Given the description of an element on the screen output the (x, y) to click on. 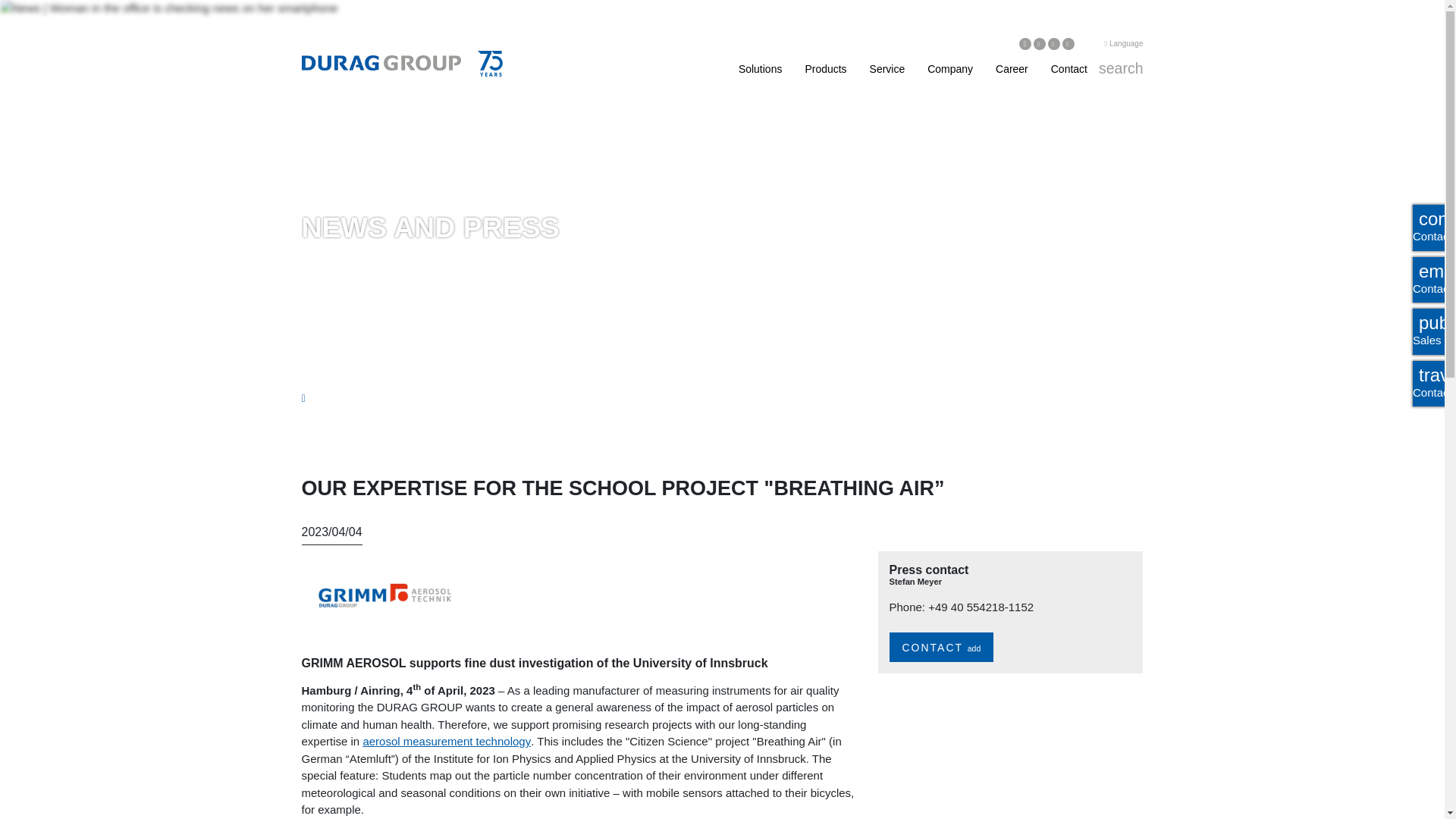
Youtube (1068, 43)
DURAG GROUP (381, 62)
LinkedIn (1024, 43)
Xing (1039, 43)
Facebook (1053, 43)
